Given the description of an element on the screen output the (x, y) to click on. 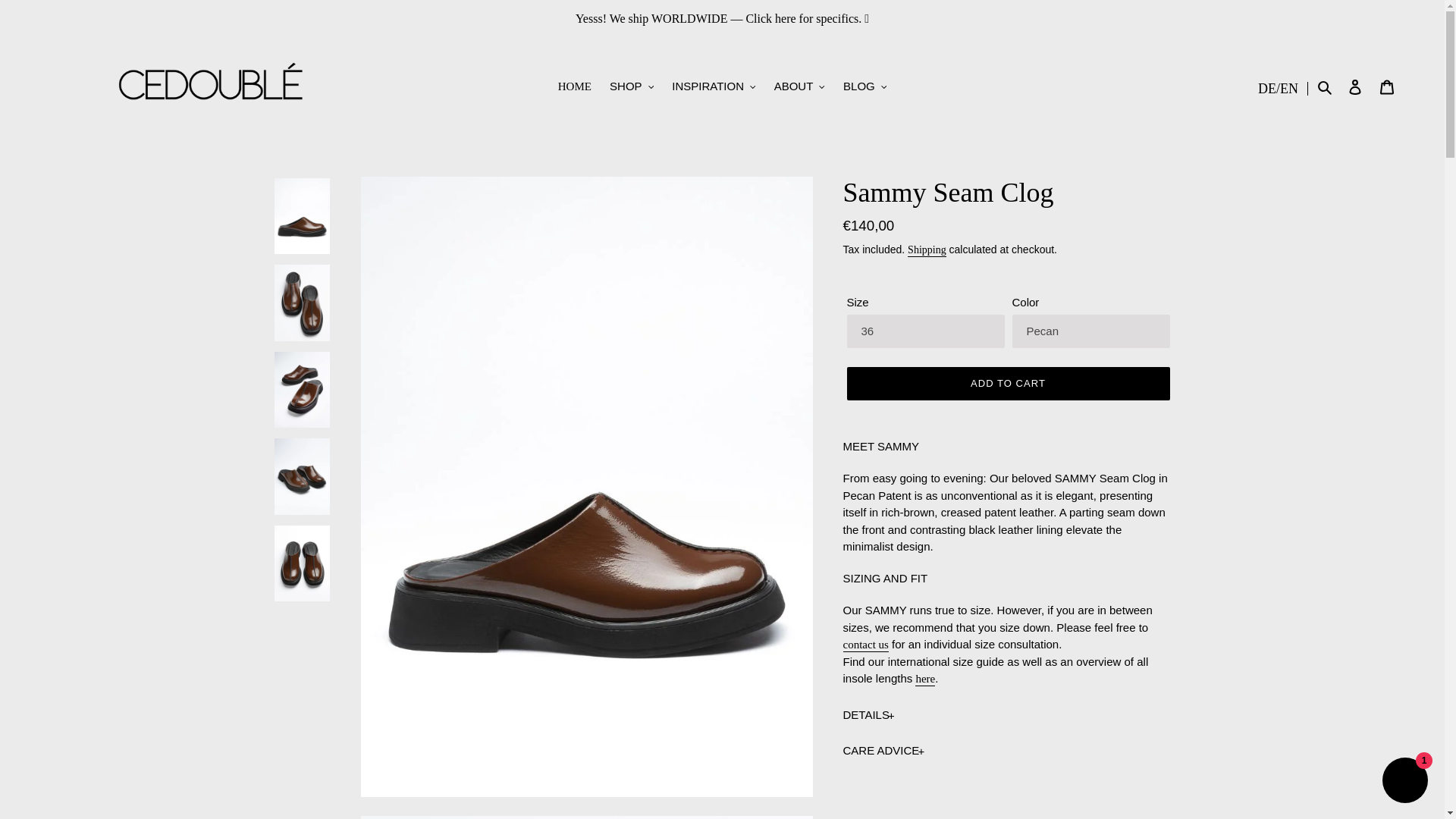
HOME (574, 86)
EN (1288, 87)
Shopify online store chat (1404, 781)
SHOP (631, 86)
ABOUT (799, 86)
Contact us for sizing advice (865, 644)
Find our size guide here (924, 679)
DE (1266, 87)
INSPIRATION (712, 86)
Search (1326, 86)
Cart (1387, 86)
BLOG (864, 86)
Log in (1355, 86)
